Given the description of an element on the screen output the (x, y) to click on. 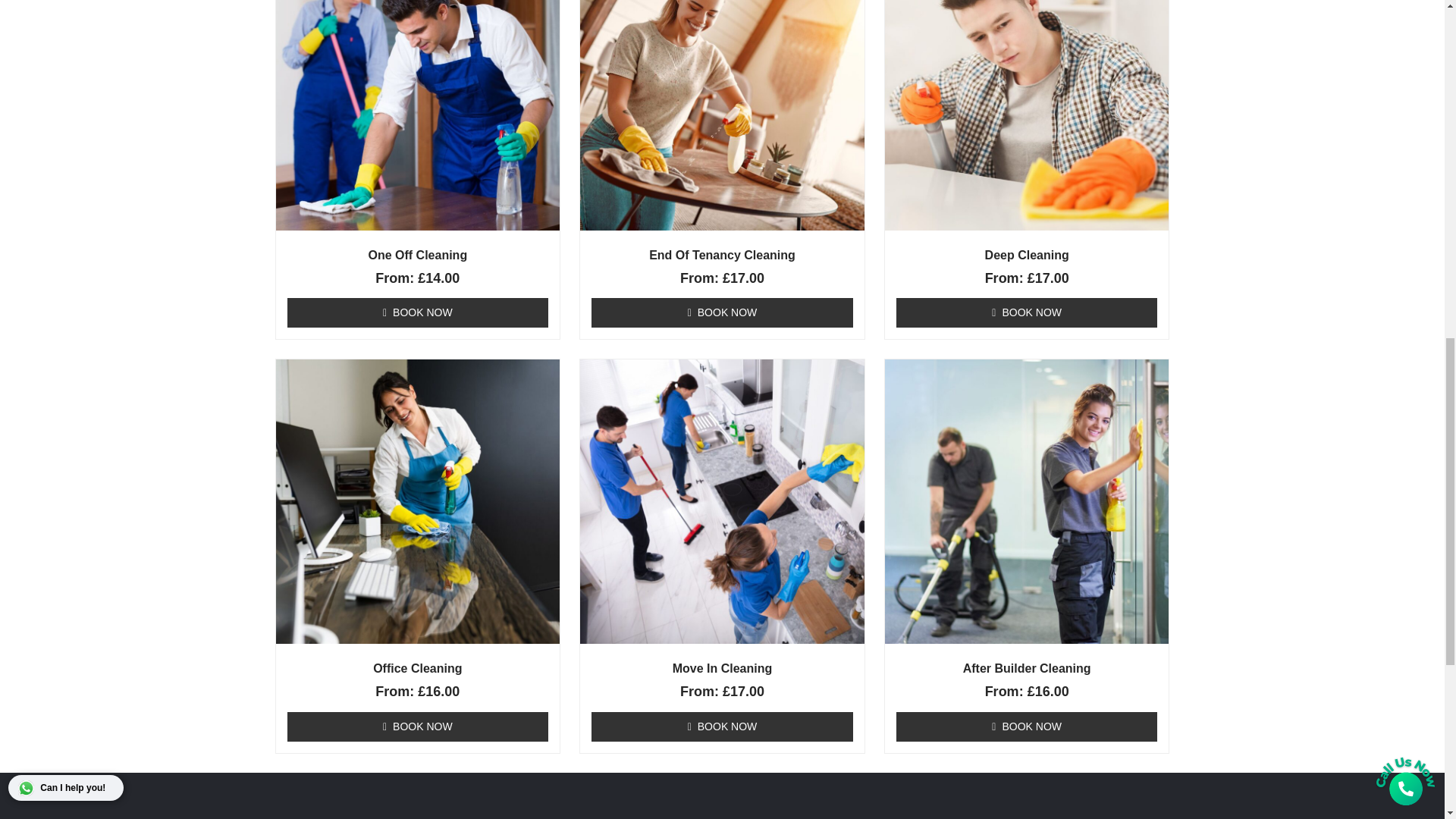
BOOK NOW (417, 177)
Home (915, 571)
BOOK NOW (722, 322)
Office Cleaning (418, 341)
One off cleaning (627, 684)
One Off Cleaning (418, 119)
Office cleaning (623, 616)
About (915, 594)
BOOK NOW (417, 399)
Move in cleaning (628, 594)
End Of Tenancy Cleaning (721, 119)
Move In Cleaning (721, 264)
Deep cleaning (622, 639)
End of tenancy cleaning (648, 661)
